Given the description of an element on the screen output the (x, y) to click on. 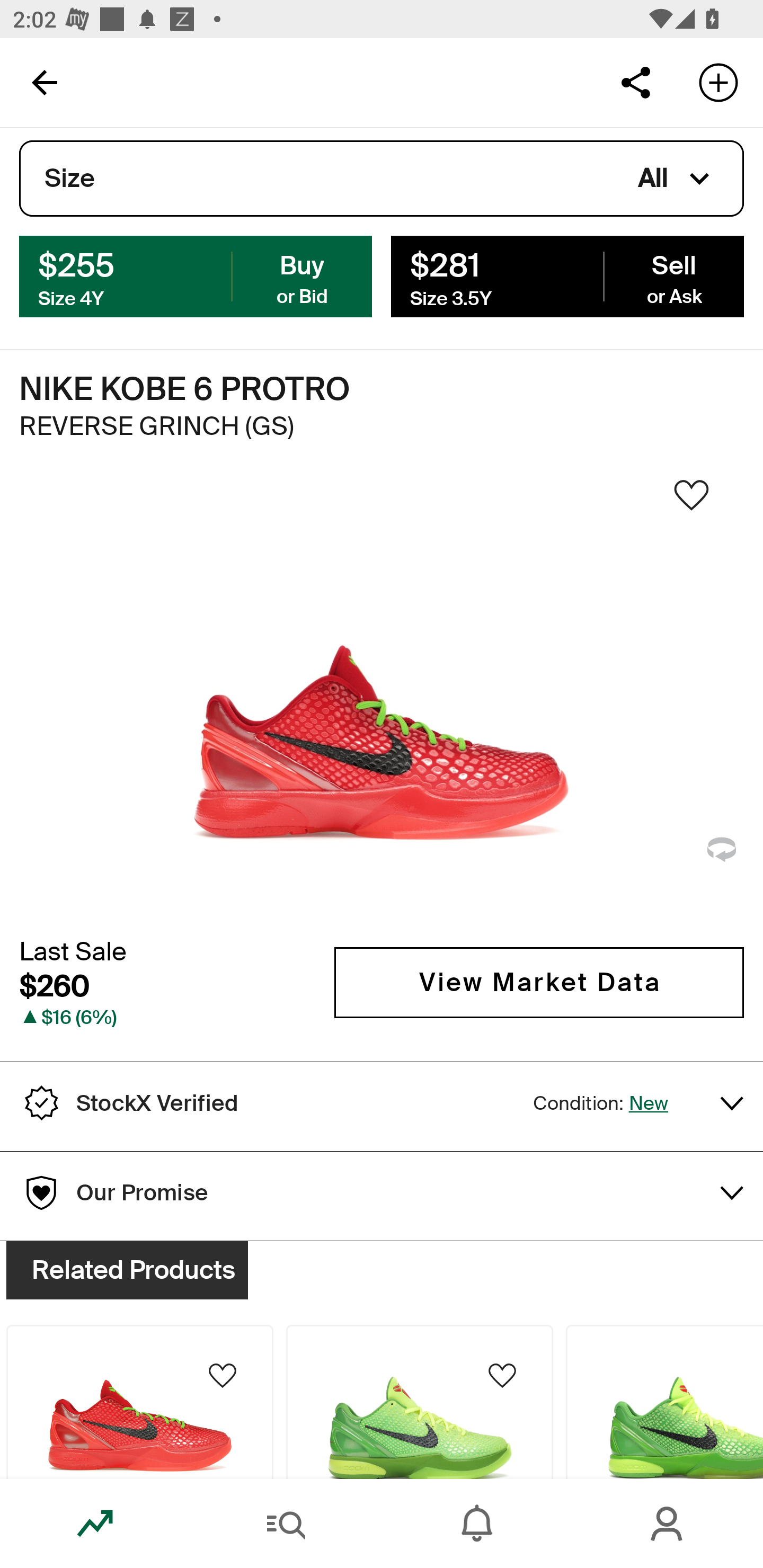
Share (635, 81)
Add (718, 81)
Size All (381, 178)
$255 Buy Size 4Y or Bid (195, 275)
$281 Sell Size 3.5Y or Ask (566, 275)
Sneaker Image (381, 699)
View Market Data (538, 982)
Product Image (139, 1401)
Product Image (419, 1401)
Product Image (664, 1401)
Search (285, 1523)
Inbox (476, 1523)
Account (667, 1523)
